Given the description of an element on the screen output the (x, y) to click on. 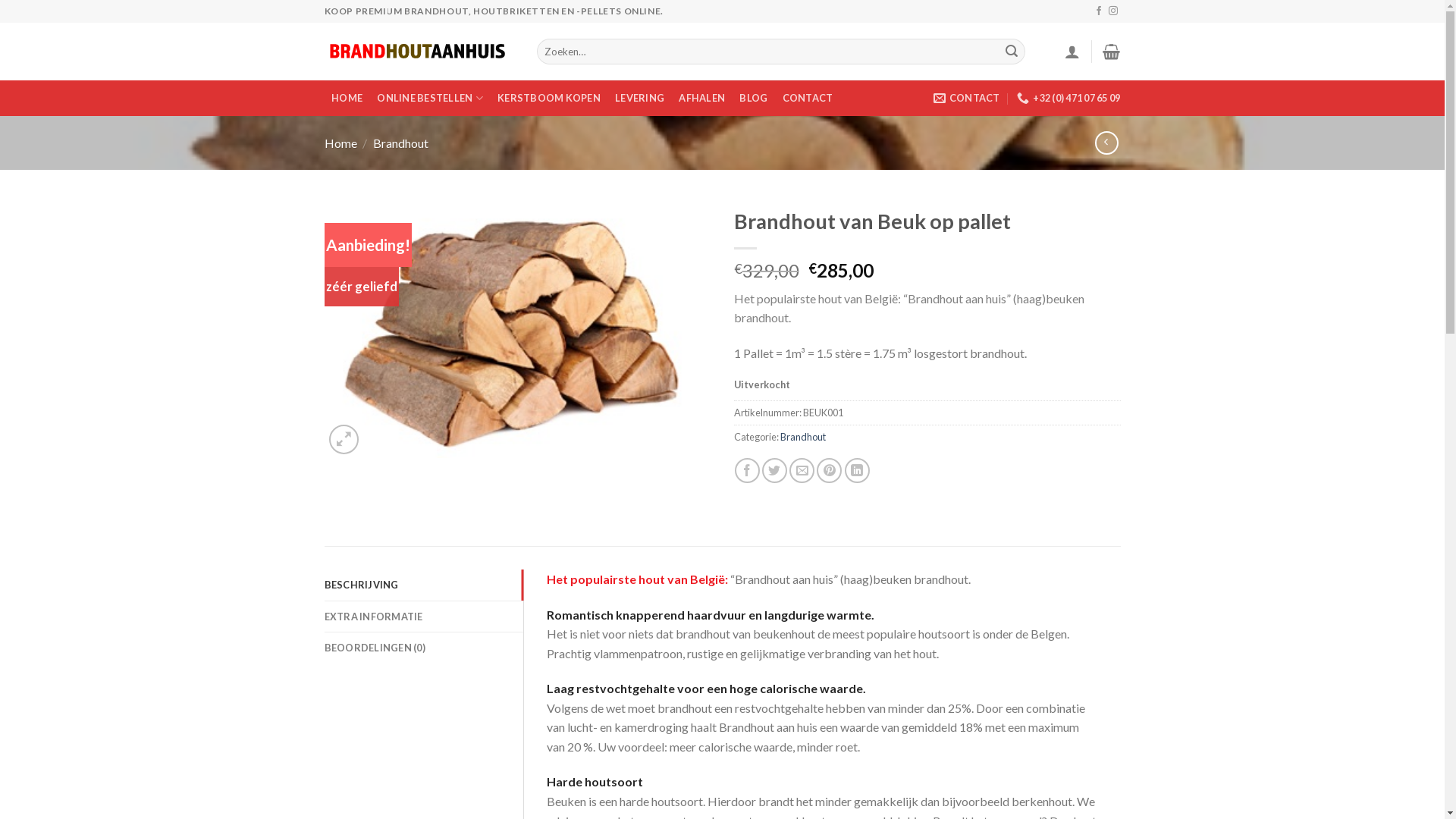
+32 (0) 471 07 65 09 Element type: text (1068, 97)
Home Element type: text (340, 142)
Zoeken Element type: text (1011, 51)
BLOG Element type: text (753, 98)
ONLINE BESTELLEN Element type: text (430, 98)
Volg ons op Instagram Element type: hover (1112, 11)
Pin op Pinterest Element type: hover (828, 470)
BEOORDELINGEN (0) Element type: text (424, 647)
Deel op Twitter Element type: hover (774, 470)
EXTRA INFORMATIE Element type: text (424, 616)
AFHALEN Element type: text (701, 98)
Zoom Element type: hover (343, 439)
HOME Element type: text (347, 98)
Deel op LinkedIn Element type: hover (856, 470)
CONTACT Element type: text (966, 97)
Stuur door naar een vriend Element type: hover (801, 470)
Winkelwagen Element type: hover (1111, 51)
CONTACT Element type: text (807, 98)
Volg ons op Facebook Element type: hover (1098, 11)
Brandhout Element type: text (802, 436)
LEVERING Element type: text (639, 98)
Deel op Facebook Element type: hover (746, 470)
Brandhout Element type: text (400, 142)
BESCHRIJVING Element type: text (424, 584)
KERSTBOOM KOPEN Element type: text (548, 98)
